Given the description of an element on the screen output the (x, y) to click on. 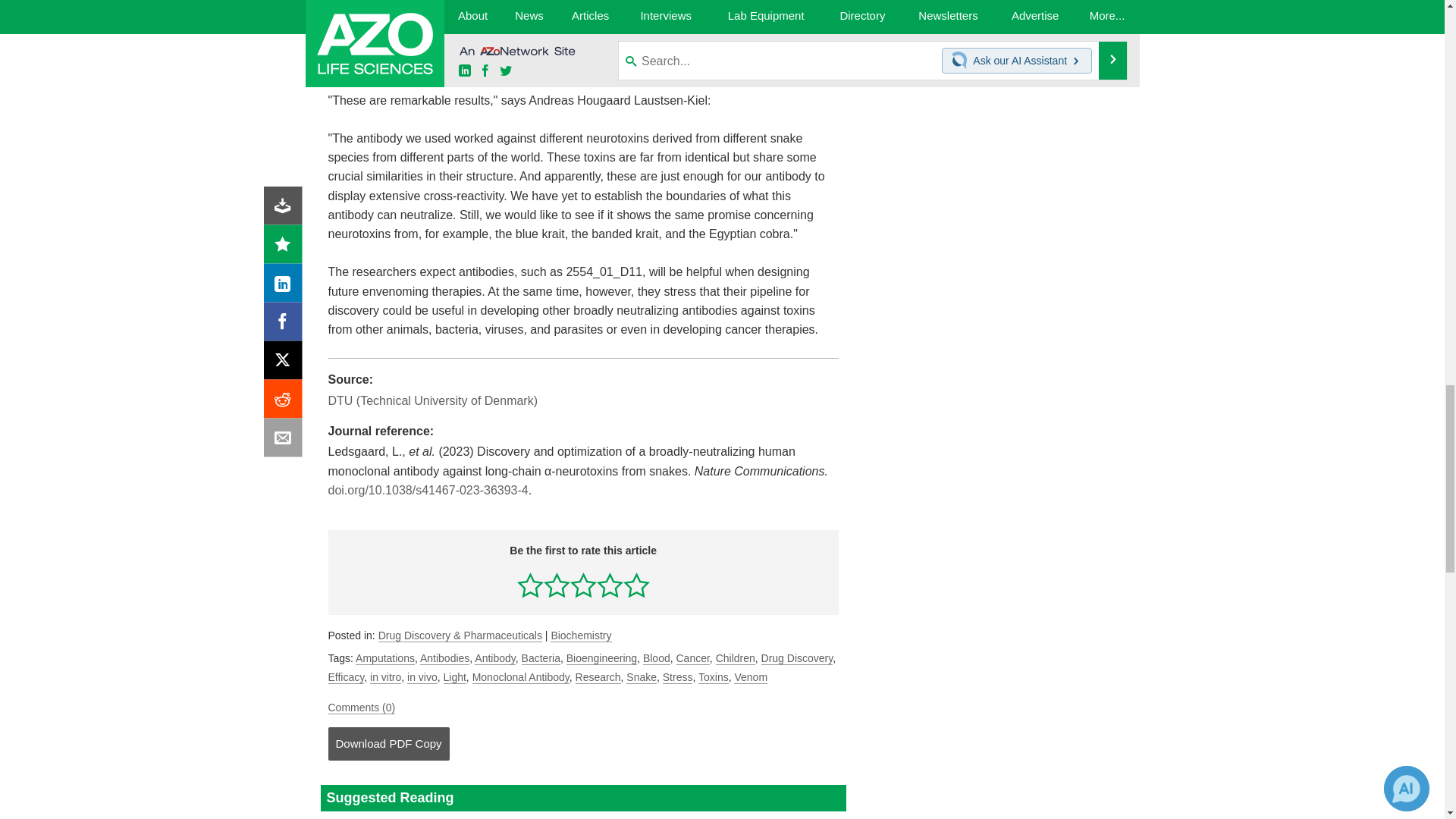
Rate this 4 stars out of 5 (609, 584)
Rate this 5 stars out of 5 (636, 584)
Rate this 3 stars out of 5 (583, 584)
